Given the description of an element on the screen output the (x, y) to click on. 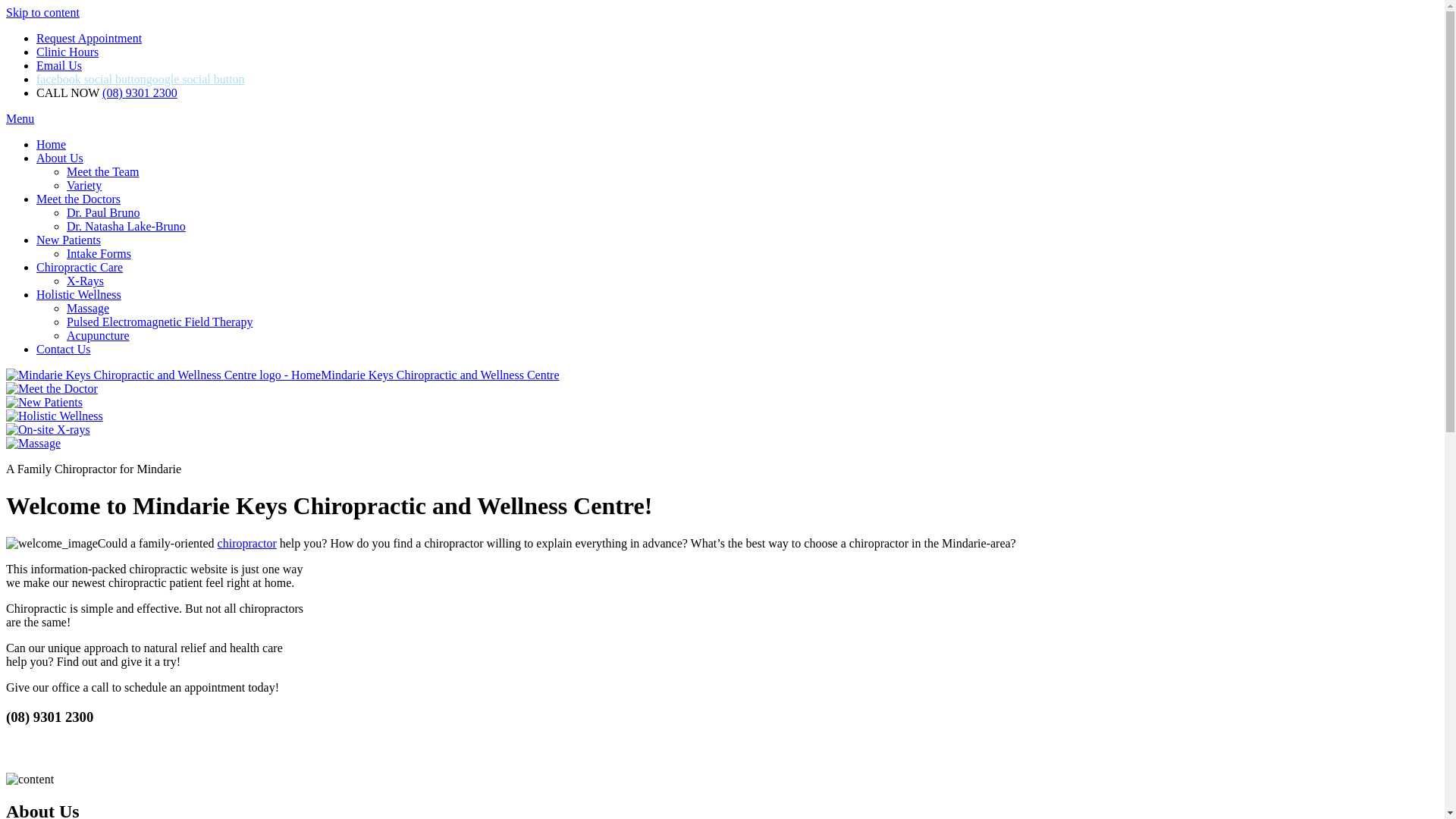
X-Rays Element type: text (84, 280)
Home Element type: text (50, 144)
Meet the Team Element type: text (102, 171)
facebook social button Element type: text (91, 78)
Dr. Natasha Lake-Bruno Element type: text (125, 225)
About Us Element type: text (59, 157)
Skip to content Element type: text (42, 12)
Request Appointment Element type: text (88, 37)
Email Us Element type: text (58, 65)
Acupuncture Element type: text (97, 335)
Holistic Wellness Element type: text (78, 294)
Clinic Hours Element type: text (67, 51)
Meet the Doctors Element type: text (78, 198)
(08) 9301 2300 Element type: text (139, 92)
Mindarie Keys Chiropractic and Wellness Centre Element type: text (282, 374)
Intake Forms Element type: text (98, 253)
Pulsed Electromagnetic Field Therapy Element type: text (159, 321)
chiropractor Element type: text (246, 542)
Dr. Paul Bruno Element type: text (102, 212)
google social button Element type: text (195, 78)
Massage Element type: text (87, 307)
Contact Us Element type: text (63, 348)
Variety Element type: text (83, 184)
Chiropractic Care Element type: text (79, 266)
New Patients Element type: text (68, 239)
Menu Element type: text (20, 118)
